Given the description of an element on the screen output the (x, y) to click on. 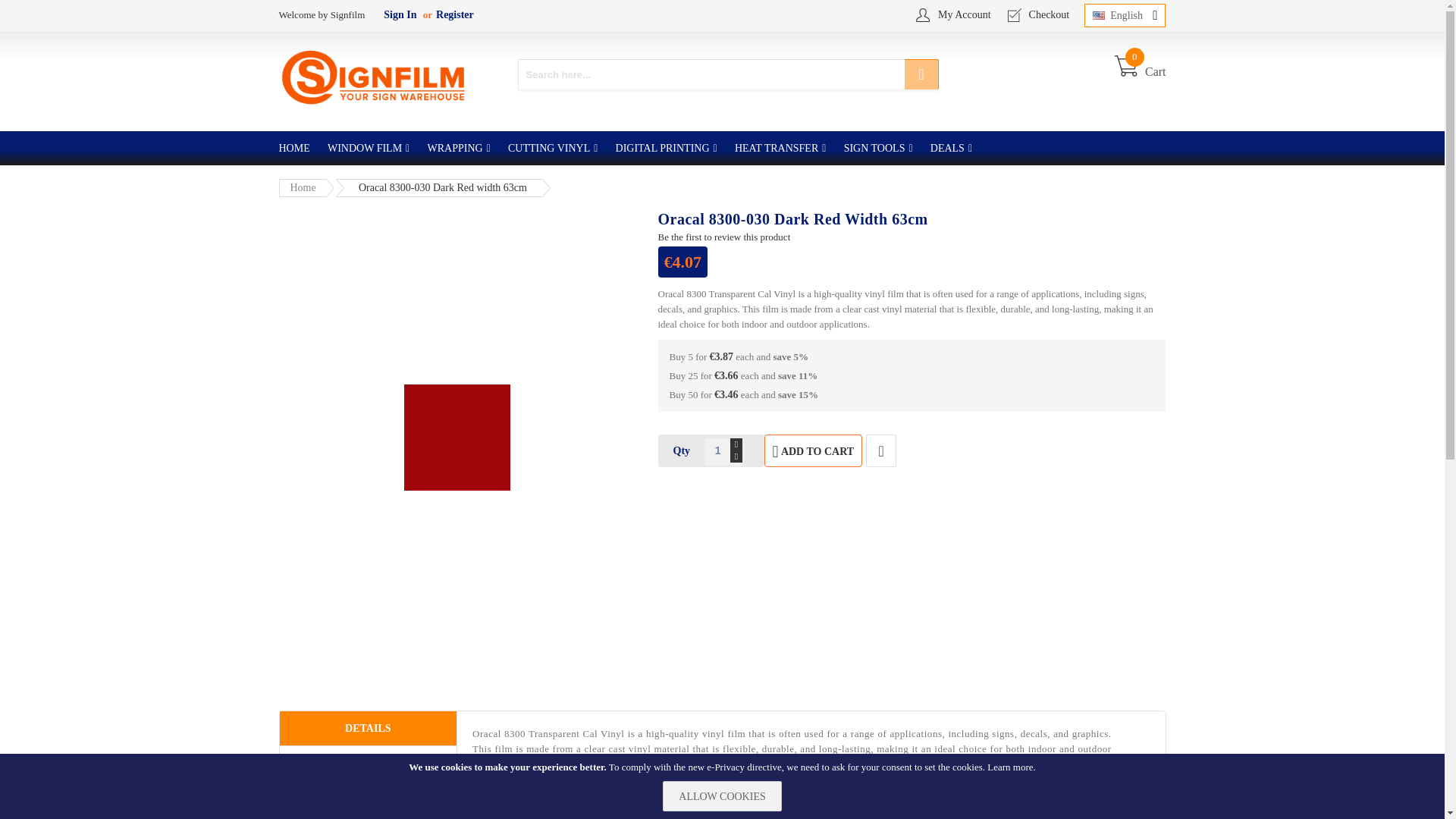
Search (920, 73)
Qty (717, 450)
Checkout (1045, 15)
Learn more (1009, 767)
My Account (1139, 70)
Register (960, 15)
1 (454, 15)
ALLOW COOKIES (717, 450)
HOME (721, 796)
Sign In (298, 148)
WINDOW FILM (400, 15)
Add to Cart (368, 148)
Go to Home Page (813, 450)
